Given the description of an element on the screen output the (x, y) to click on. 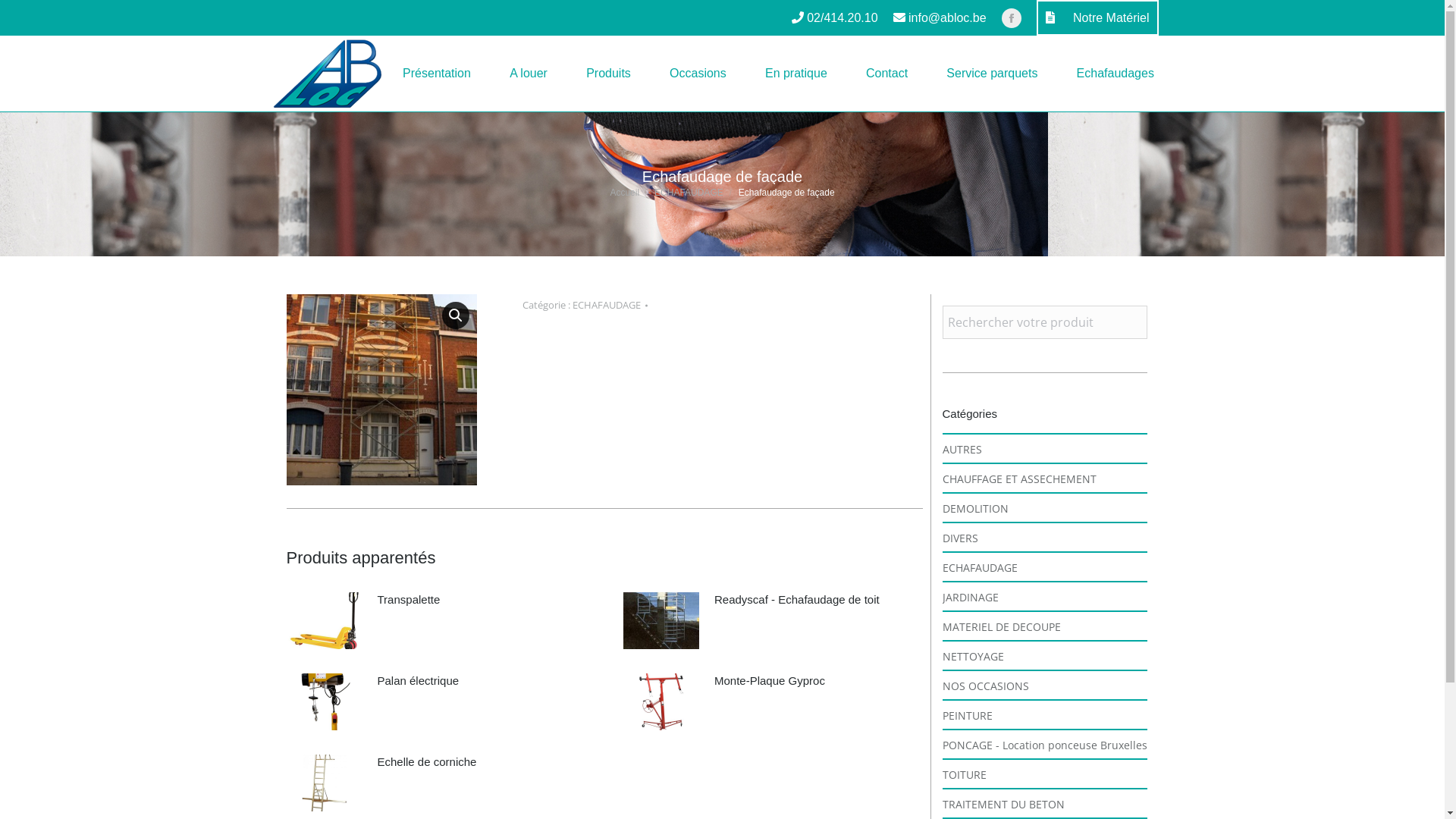
Service parquets Element type: text (992, 73)
Monte-Plaque Gyproc Element type: text (769, 680)
CHAUFFAGE ET ASSECHEMENT Element type: text (1018, 478)
Accueil Element type: text (624, 191)
Readyscaf - Echafaudage de toit Element type: text (796, 599)
02/414.20.10 Element type: text (834, 17)
Transpalette Element type: text (408, 599)
En pratique Element type: text (795, 73)
TRAITEMENT DU BETON Element type: text (1002, 803)
ECHAFAUDAGE Element type: text (688, 191)
TOITURE Element type: text (963, 774)
NETTOYAGE Element type: text (972, 655)
Occasions Element type: text (697, 73)
Echelle de corniche Element type: text (426, 761)
A louer Element type: text (528, 73)
MATERIEL DE DECOUPE Element type: text (1000, 626)
info@abloc.be Element type: text (939, 17)
NOS OCCASIONS Element type: text (984, 685)
Produits Element type: text (608, 73)
DIVERS Element type: text (959, 537)
PONCAGE - Location ponceuse Bruxelles Element type: text (1043, 744)
AUTRES Element type: text (961, 448)
DEMOLITION Element type: text (974, 507)
ECHAFAUDAGE Element type: text (978, 567)
JARDINAGE Element type: text (969, 596)
Facebook page opens in new window Element type: text (1011, 17)
Echafaudages Element type: text (1115, 73)
ECHAFAUDAGE Element type: text (606, 304)
Contact Element type: text (886, 73)
PEINTURE Element type: text (966, 715)
